Given the description of an element on the screen output the (x, y) to click on. 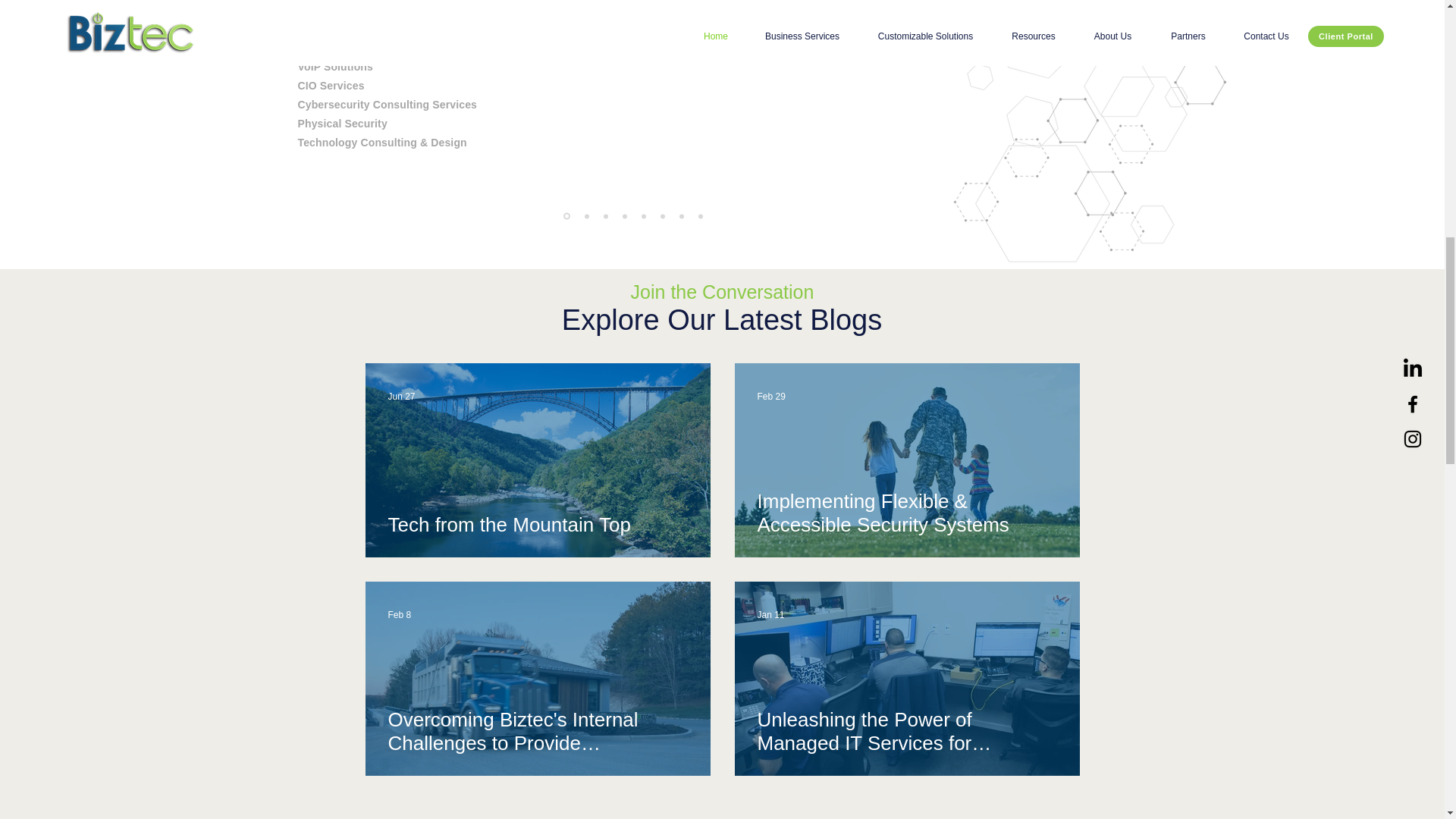
Feb 29 (770, 396)
Managed IT Services (350, 9)
Jan 11 (770, 614)
Feb 8 (400, 614)
Co-Managed IT Services (359, 28)
Jun 27 (401, 396)
VoIP Solutions (334, 66)
